Given the description of an element on the screen output the (x, y) to click on. 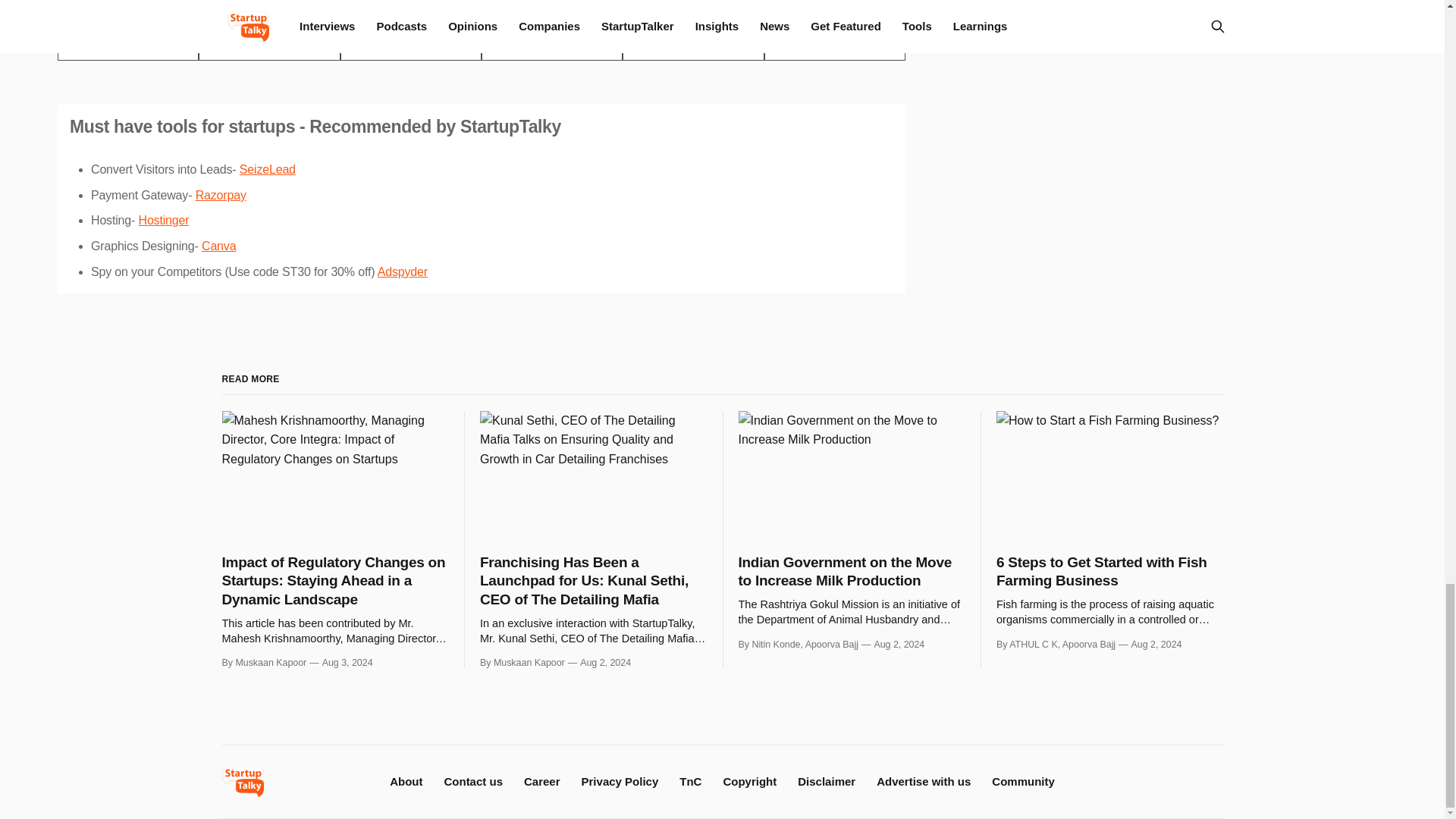
Share by email (552, 45)
Share on Twitter (128, 45)
Hostinger (163, 219)
SeizeLead (267, 169)
Copy to clipboard (692, 45)
Contact us (473, 780)
Canva (218, 245)
Share on Linkedin (410, 45)
Career (542, 780)
